Given the description of an element on the screen output the (x, y) to click on. 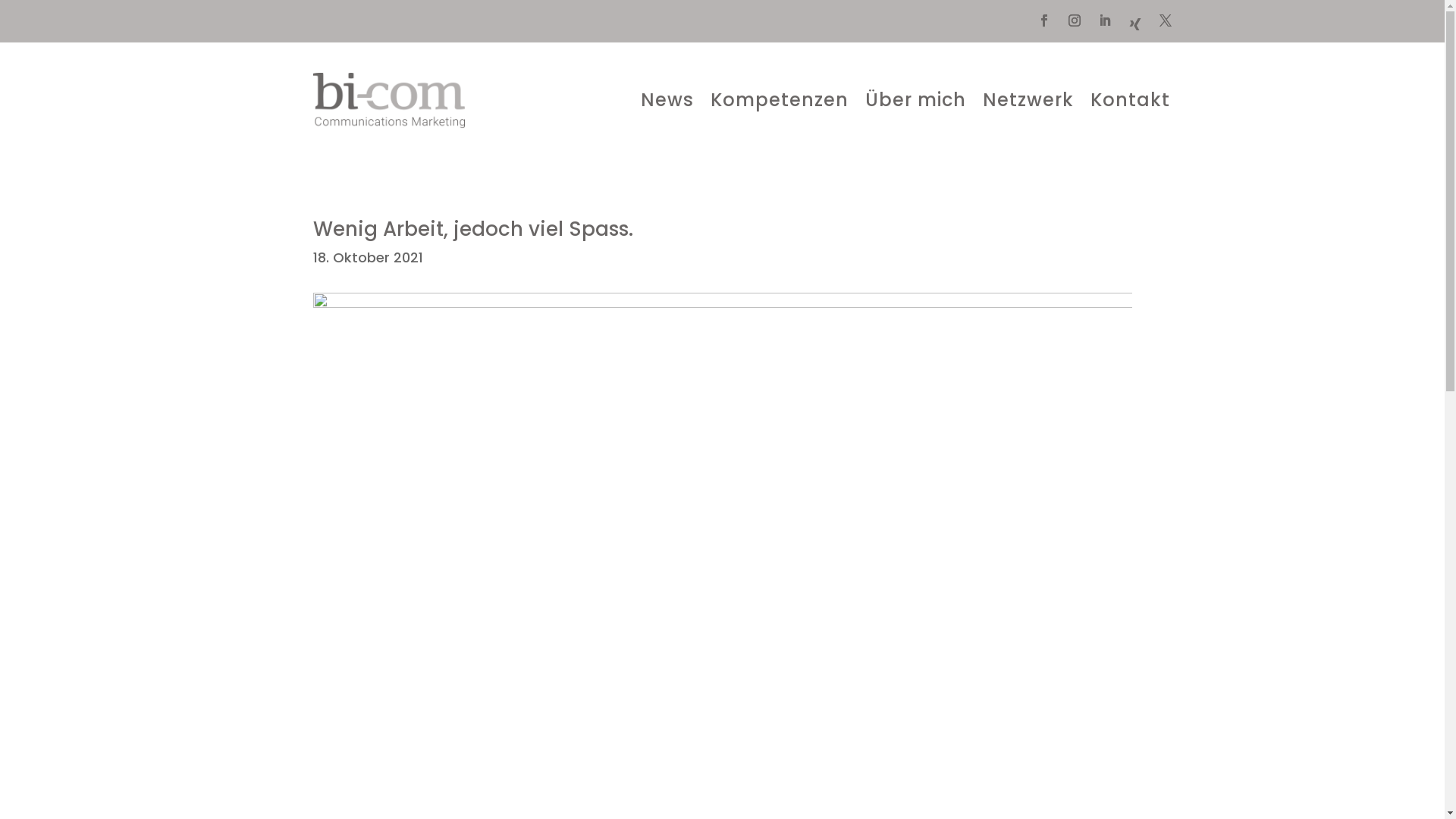
News Element type: text (666, 99)
Folge auf X Element type: hover (1164, 20)
Netzwerk Element type: text (1027, 99)
Folge auf Facebook Element type: hover (1043, 20)
Kontakt Element type: text (1130, 99)
Folge auf LinkedIn Element type: hover (1104, 20)
Kompetenzen Element type: text (778, 99)
Folge auf Pinterest Element type: hover (1134, 24)
Folge auf Instagram Element type: hover (1073, 20)
